Given the description of an element on the screen output the (x, y) to click on. 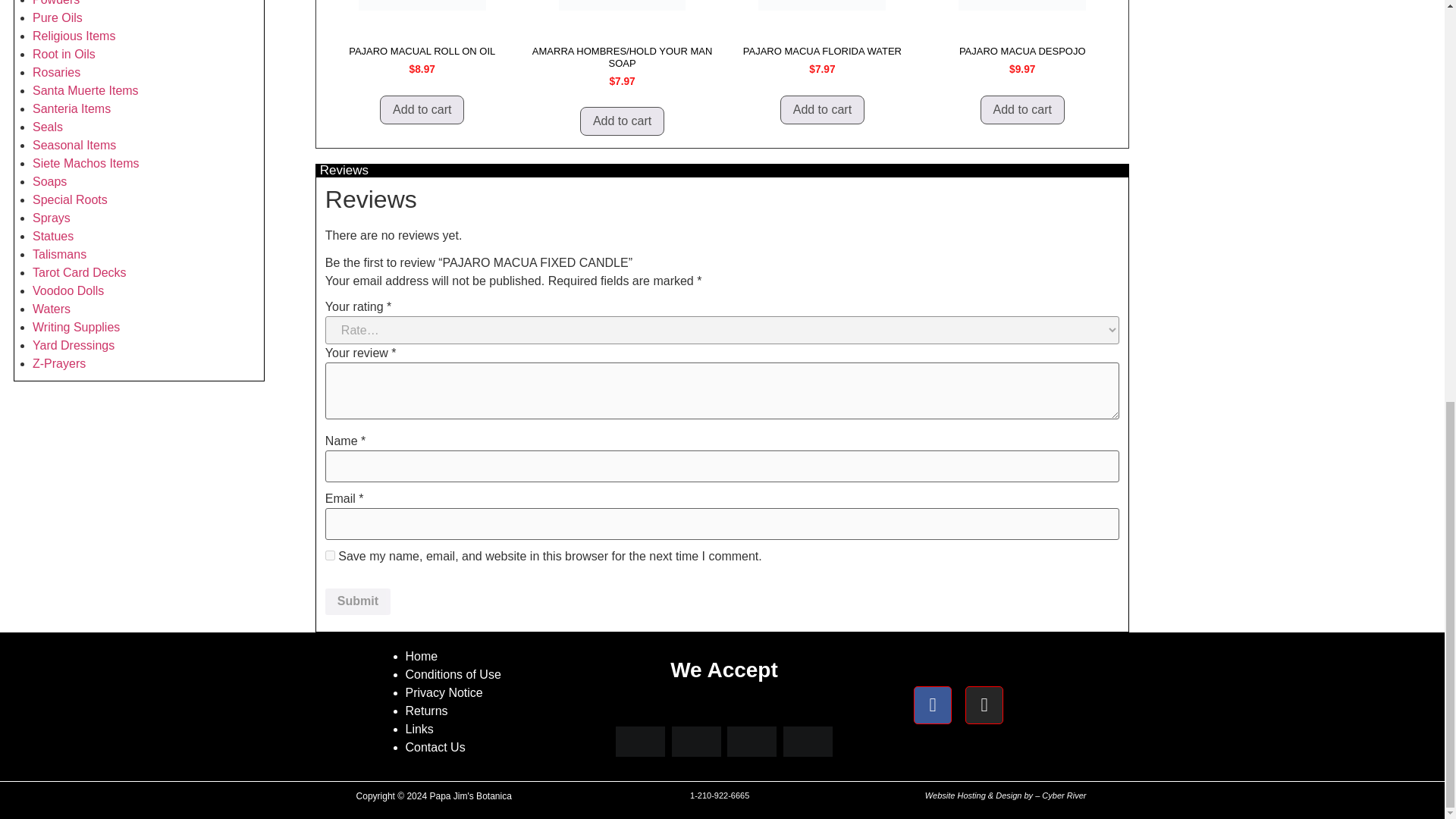
yes (329, 555)
Submit (357, 601)
